Given the description of an element on the screen output the (x, y) to click on. 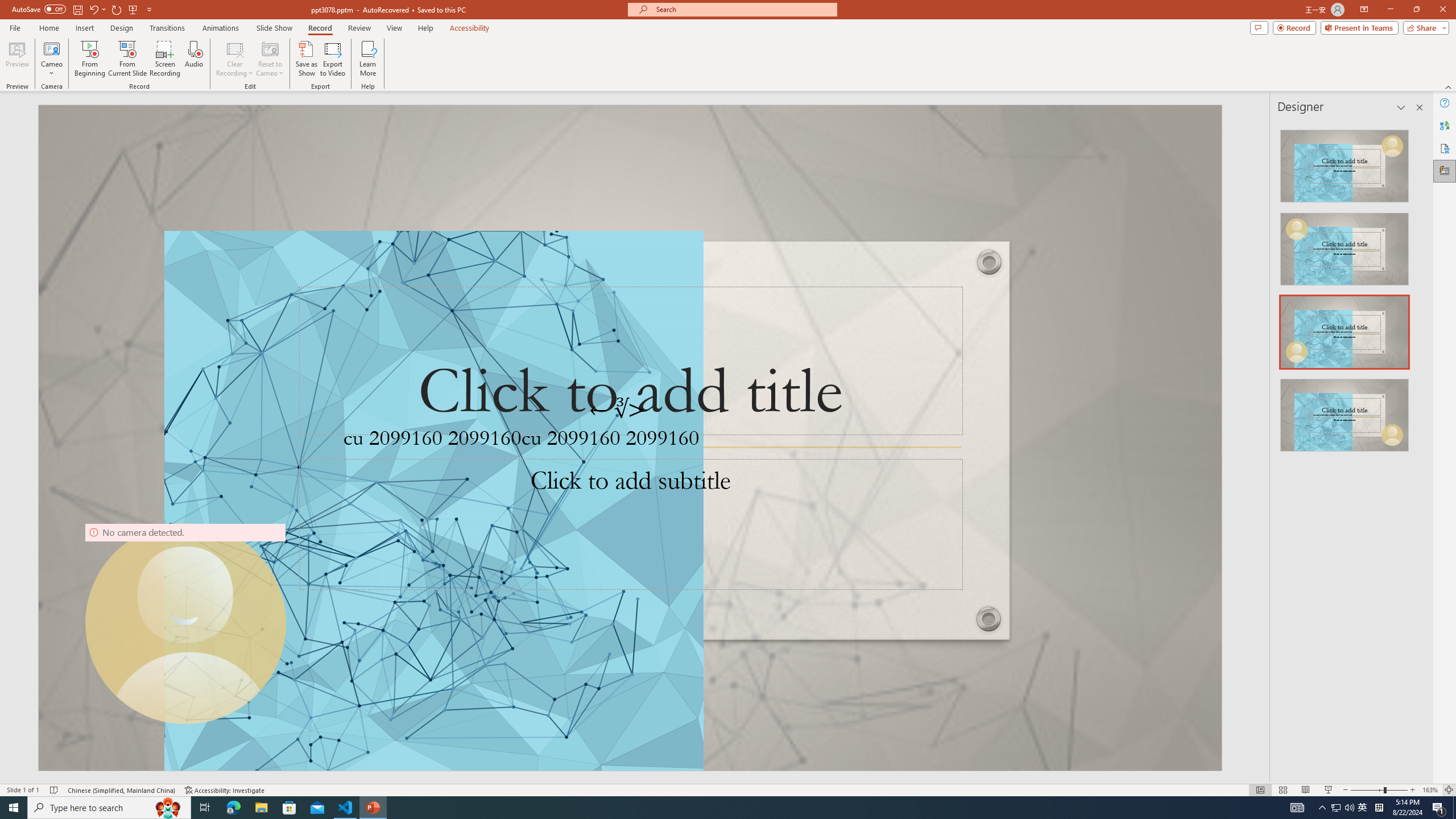
Subtitle TextBox (630, 523)
Cameo (51, 48)
Learn More (368, 58)
Cameo (51, 58)
From Current Slide... (127, 58)
Save as Show (306, 58)
Export to Video (332, 58)
Microsoft search (742, 9)
Reset to Cameo (269, 58)
